Given the description of an element on the screen output the (x, y) to click on. 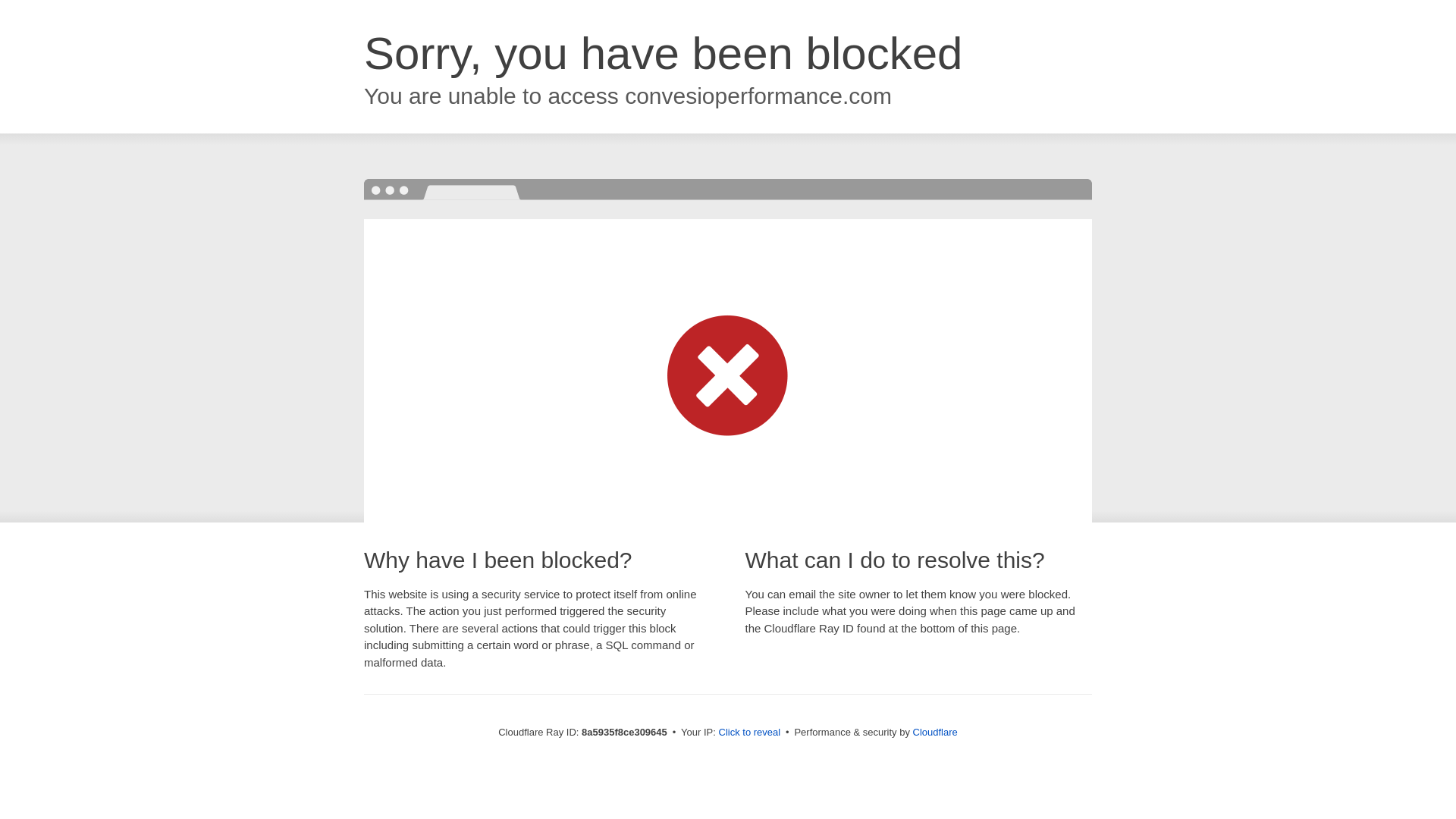
Click to reveal (749, 732)
Cloudflare (935, 731)
